Given the description of an element on the screen output the (x, y) to click on. 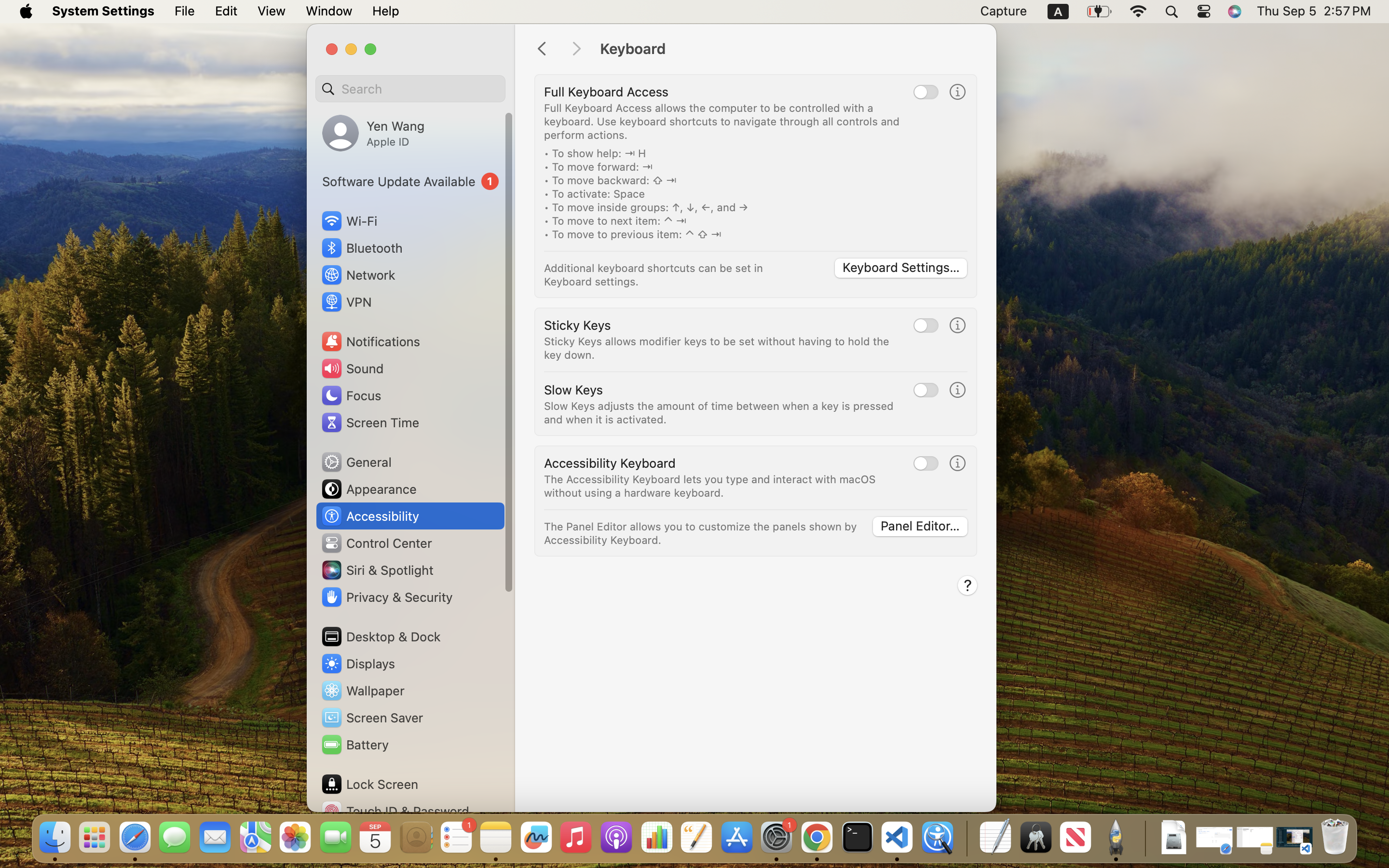
Battery Element type: AXStaticText (354, 744)
VPN Element type: AXStaticText (345, 301)
Wi‑Fi Element type: AXStaticText (348, 220)
Siri & Spotlight Element type: AXStaticText (376, 569)
Bluetooth Element type: AXStaticText (361, 247)
